Given the description of an element on the screen output the (x, y) to click on. 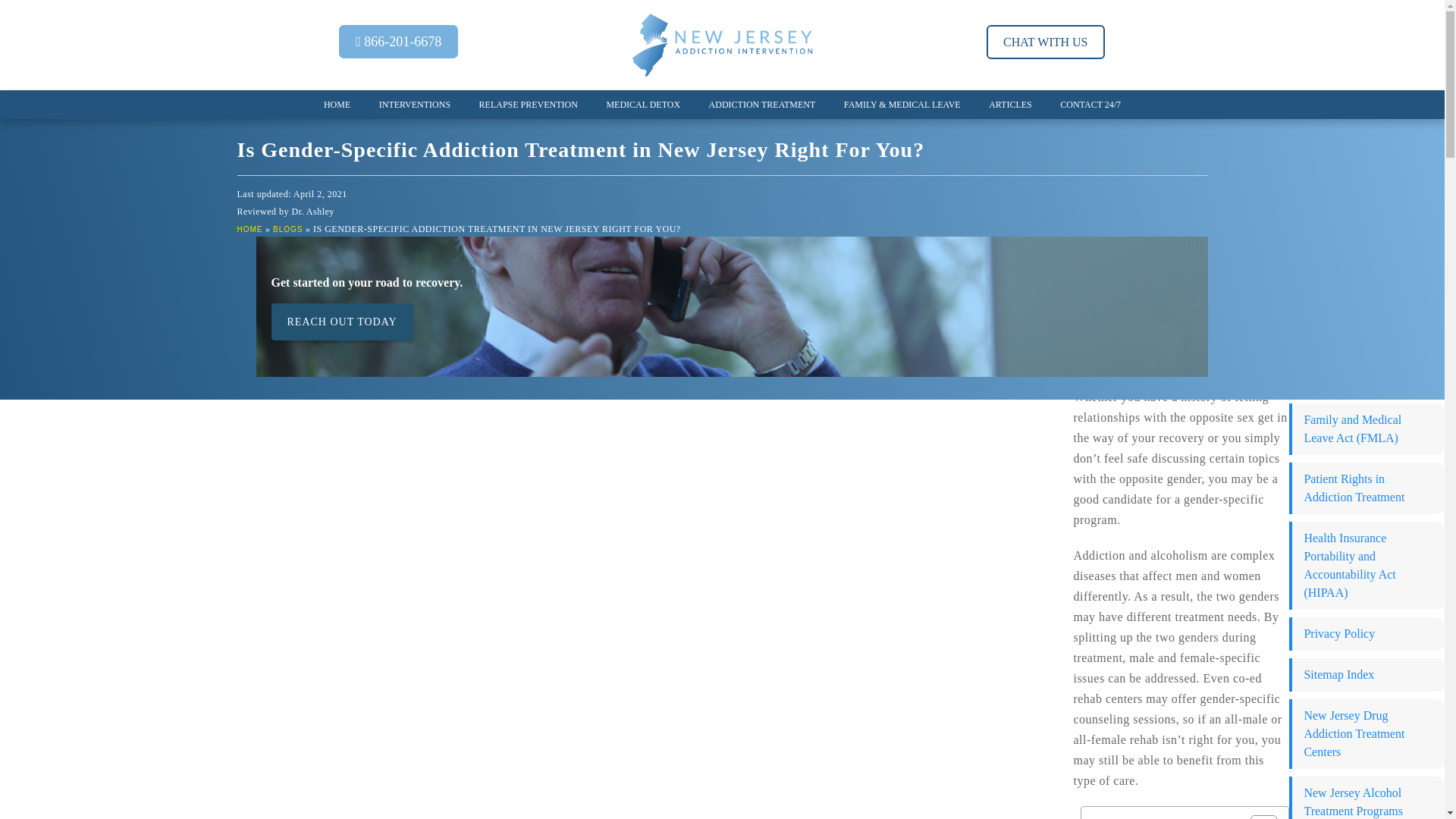
HOME (248, 229)
REACH OUT TODAY (341, 321)
ADDICTION TREATMENT (762, 104)
ARTICLES (1009, 104)
866-201-6678 (398, 41)
CHAT WITH US (1045, 41)
INTERVENTIONS (414, 104)
RELAPSE PREVENTION (528, 104)
MEDICAL DETOX (642, 104)
BLOGS (287, 229)
